Given the description of an element on the screen output the (x, y) to click on. 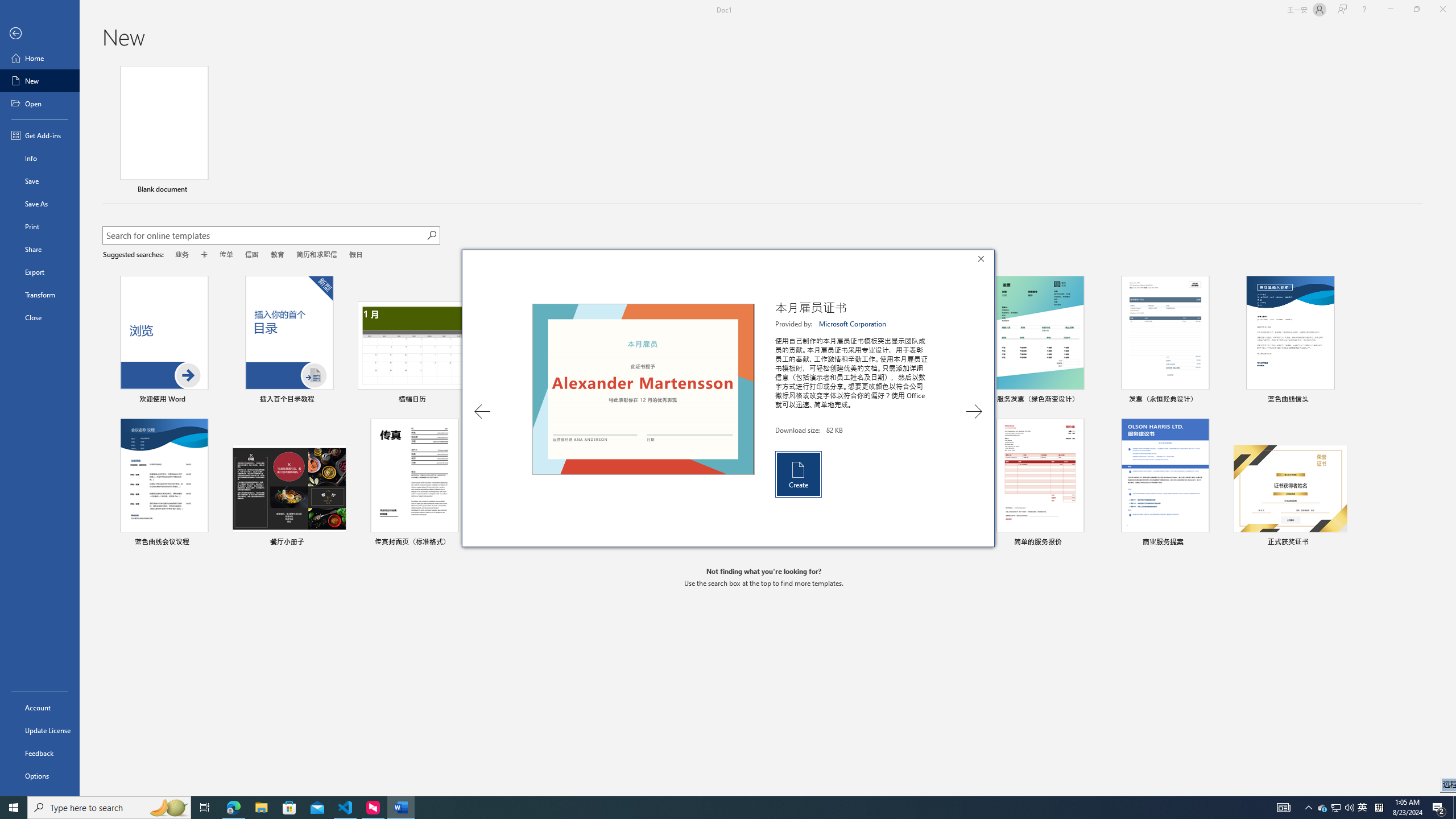
Action Center, 2 new notifications (1439, 807)
Transform (40, 294)
Running applications (700, 807)
Microsoft Corporation (853, 323)
Start (13, 807)
Notification Chevron (1308, 807)
Get Add-ins (40, 134)
Q2790: 100% (1349, 807)
